Given the description of an element on the screen output the (x, y) to click on. 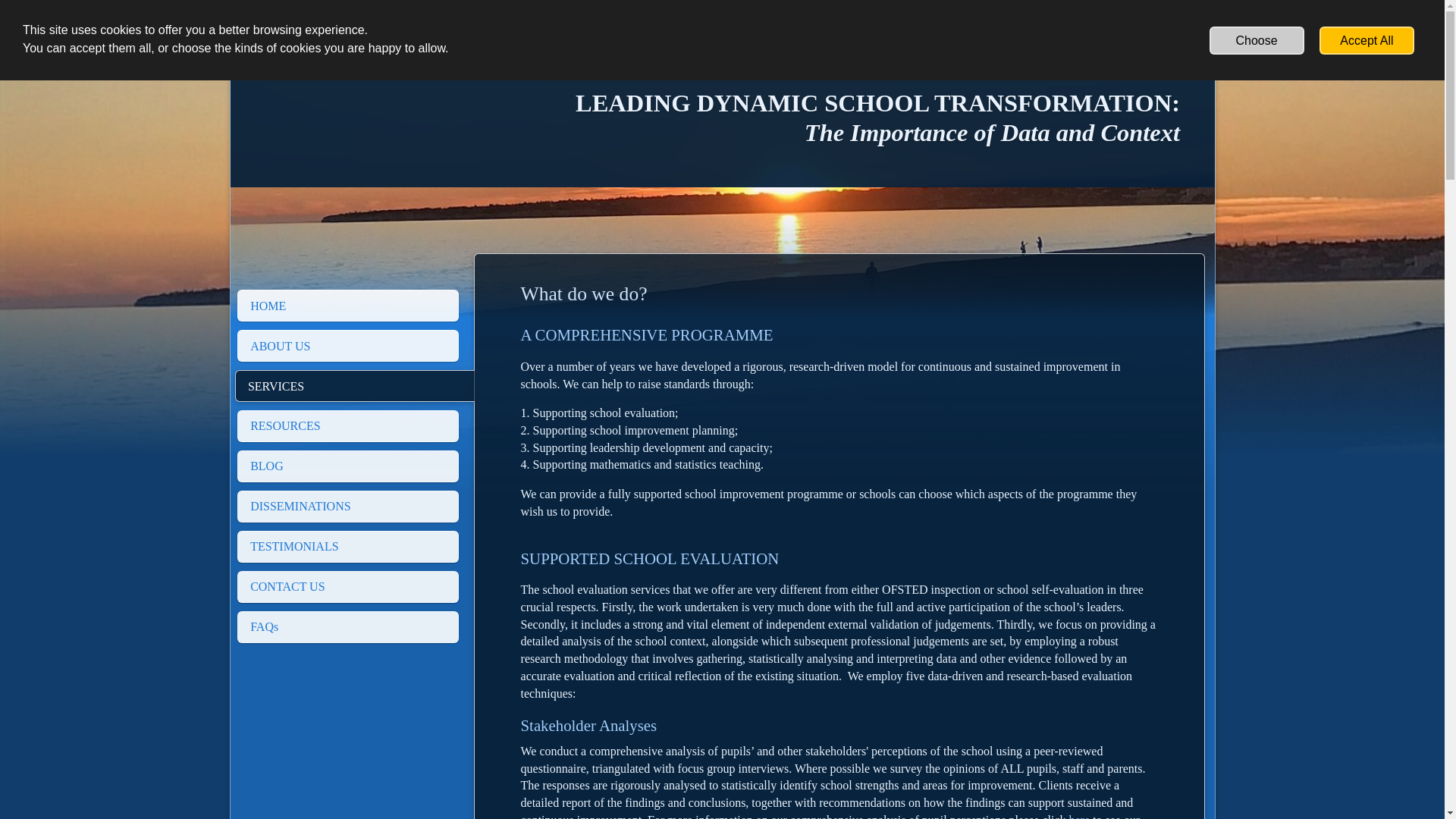
Accept All (1366, 40)
RESOURCES (347, 426)
SERVICES (354, 386)
Choose (1256, 40)
CONTACT US (347, 586)
FAQs (347, 626)
ABOUT US (347, 345)
HOME (347, 305)
TESTIMONIALS (347, 546)
BLOG (347, 466)
